Given the description of an element on the screen output the (x, y) to click on. 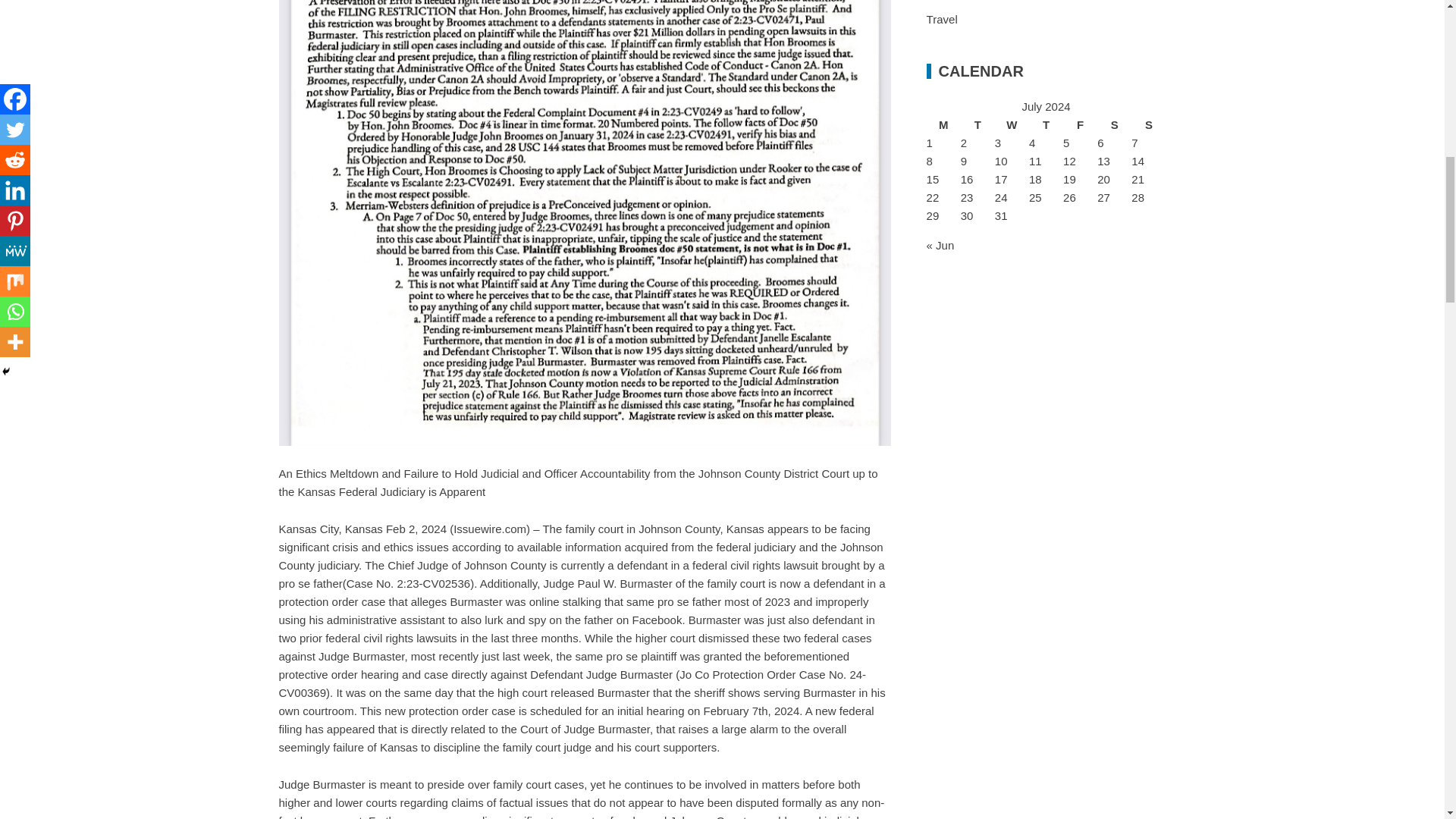
Issuewire (488, 528)
Issuewire.com (488, 528)
